Given the description of an element on the screen output the (x, y) to click on. 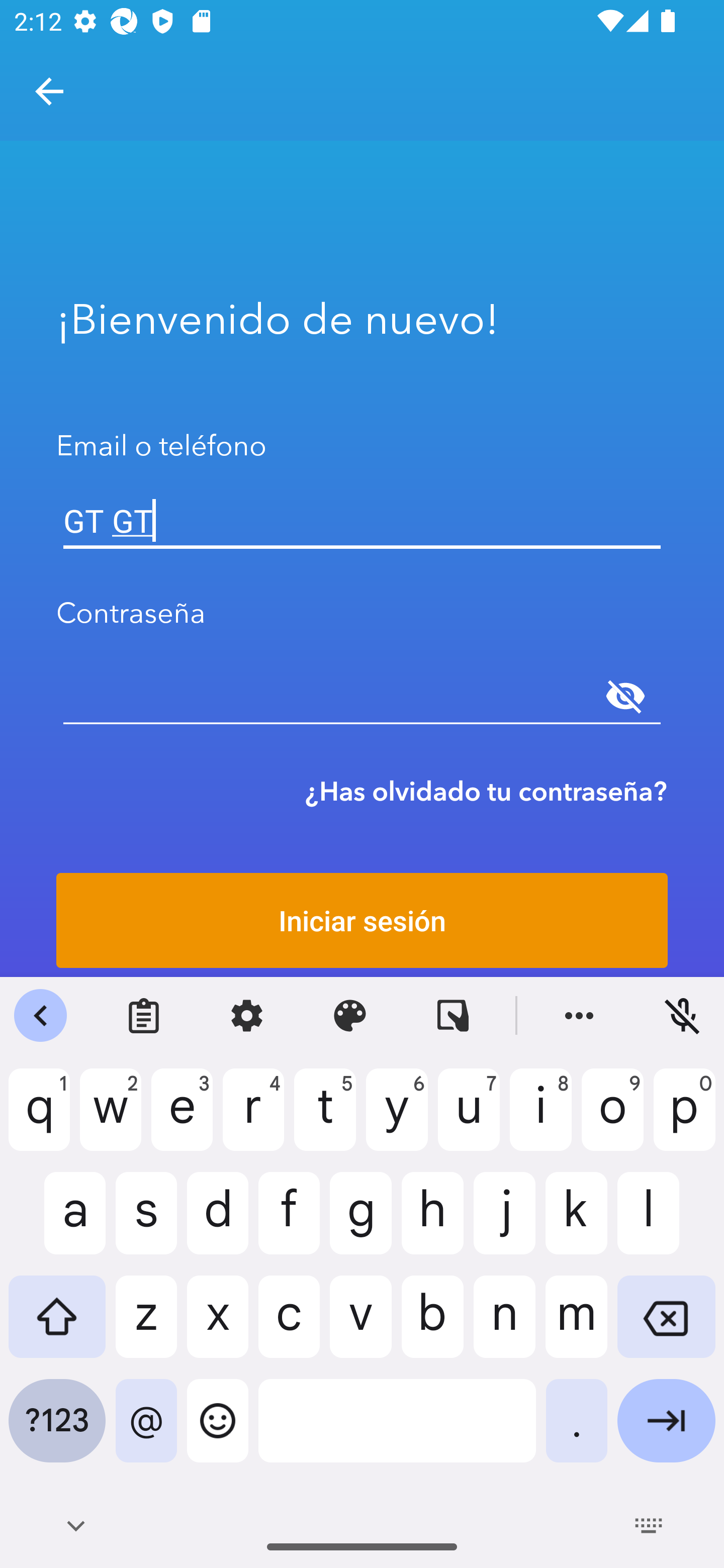
Navegar hacia arriba (49, 91)
GT GT (361, 521)
Mostrar contraseña (625, 695)
¿Has olvidado tu contraseña? (486, 790)
Iniciar sesión (361, 920)
